Given the description of an element on the screen output the (x, y) to click on. 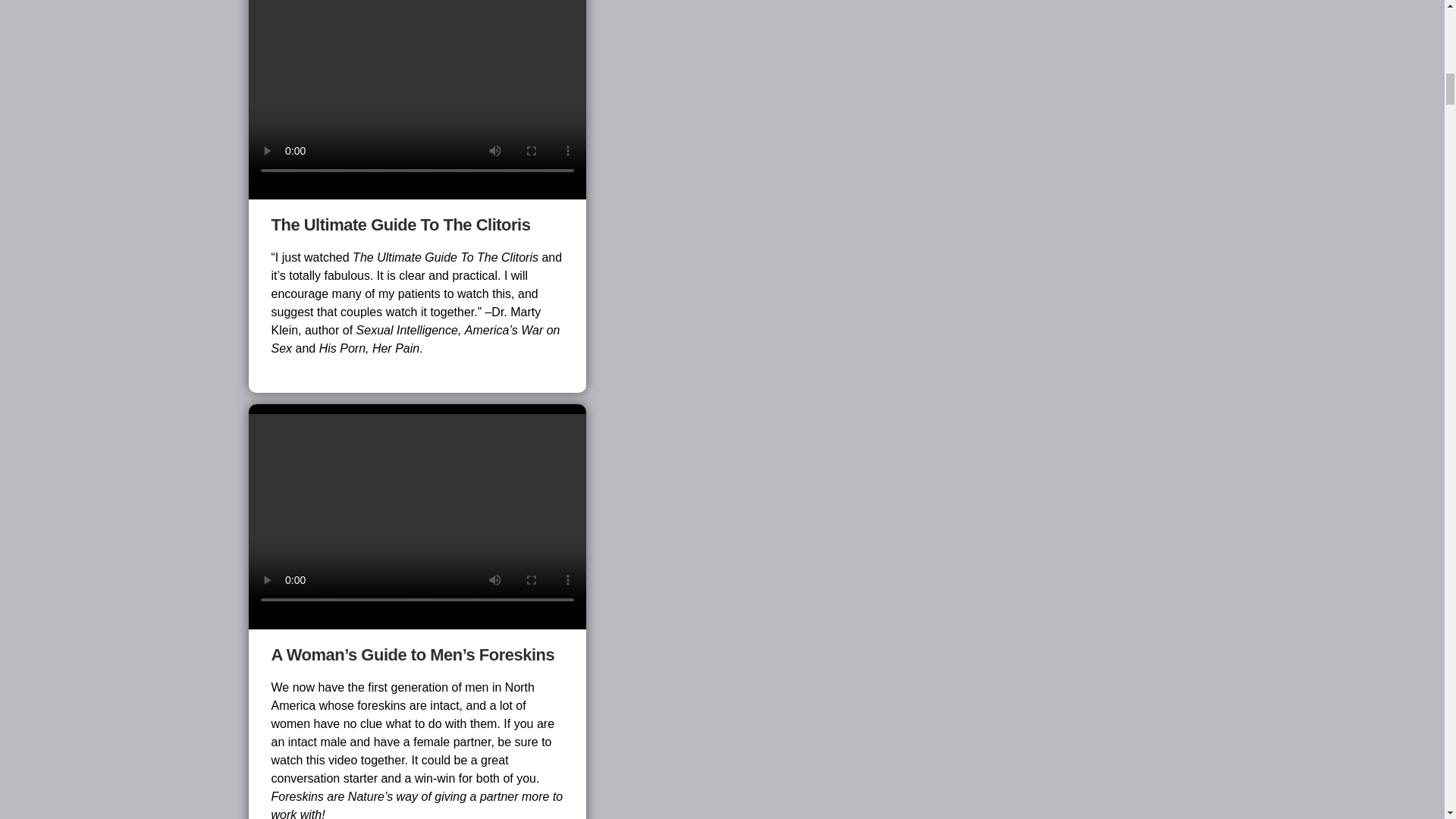
The Ultimate Guide To The Clitoris (400, 224)
